Given the description of an element on the screen output the (x, y) to click on. 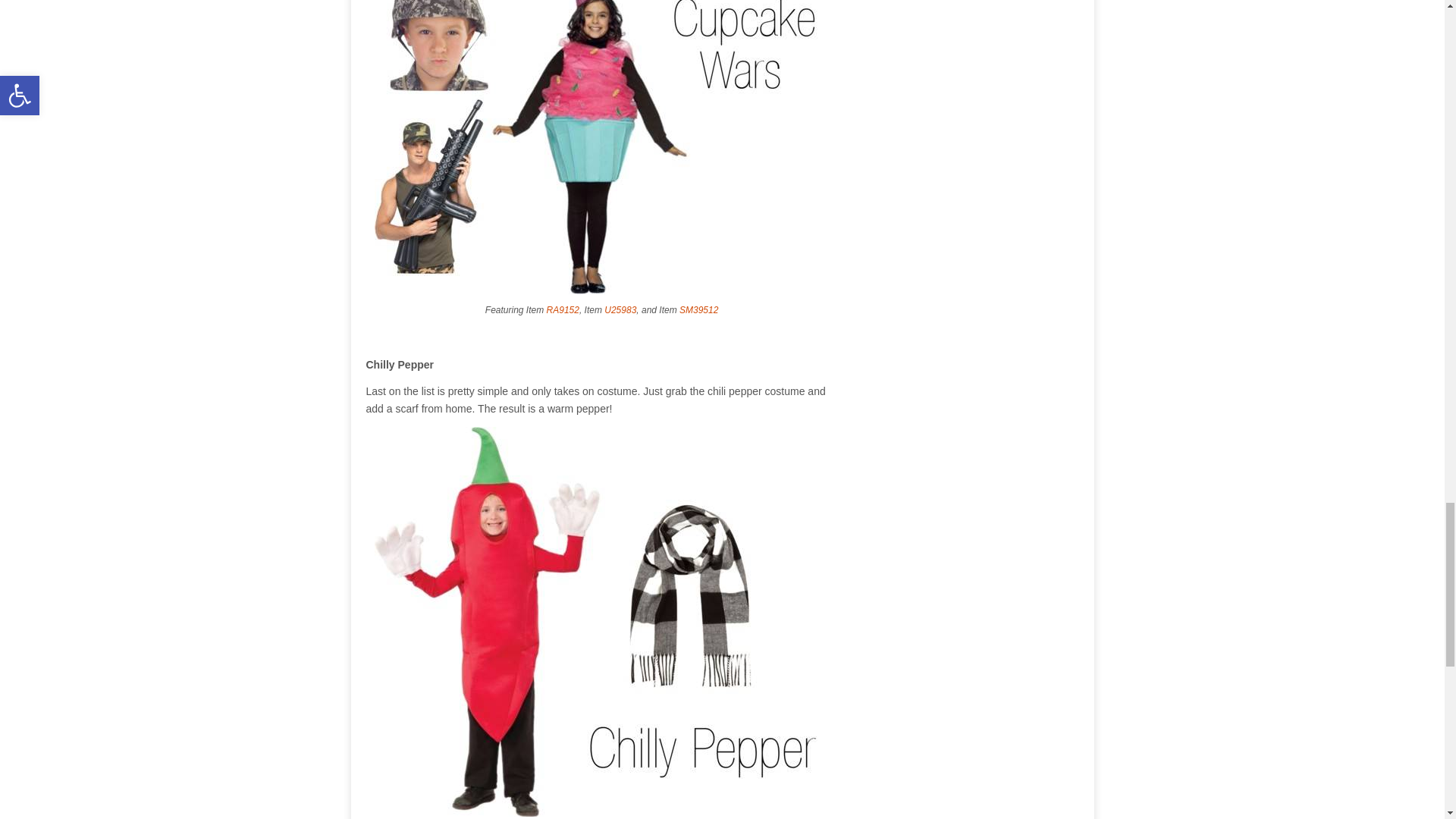
RA9152 (563, 309)
U25983 (620, 309)
SM39512 (698, 309)
